Given the description of an element on the screen output the (x, y) to click on. 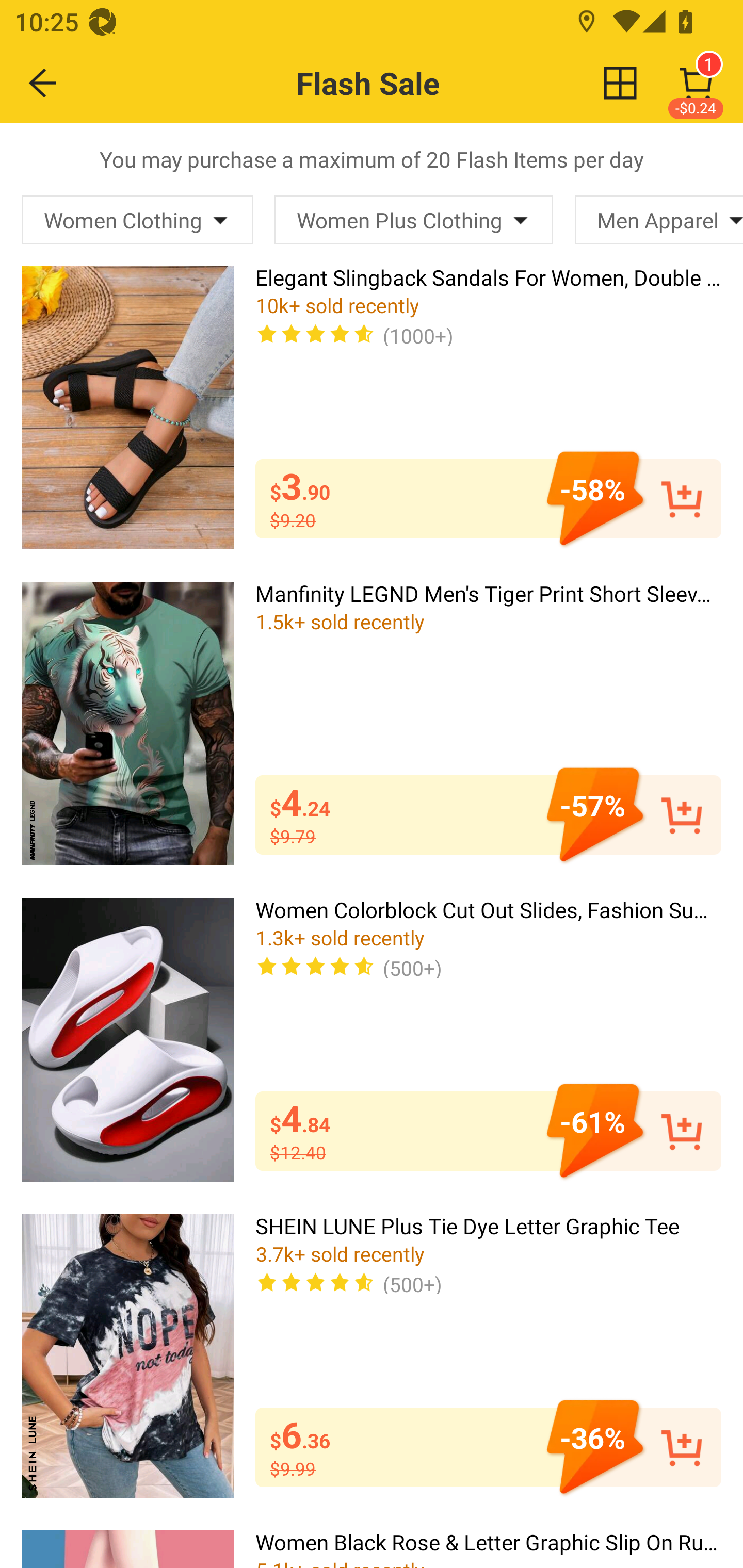
Flash Sale change view 1 -$0.24 (414, 82)
1 -$0.24 (695, 82)
change view (620, 82)
BACK (43, 83)
Women Clothing (136, 220)
Women Plus Clothing (413, 220)
Men Apparel (659, 220)
SHEIN LUNE Plus Tie Dye Letter Graphic Tee (127, 1355)
